Given the description of an element on the screen output the (x, y) to click on. 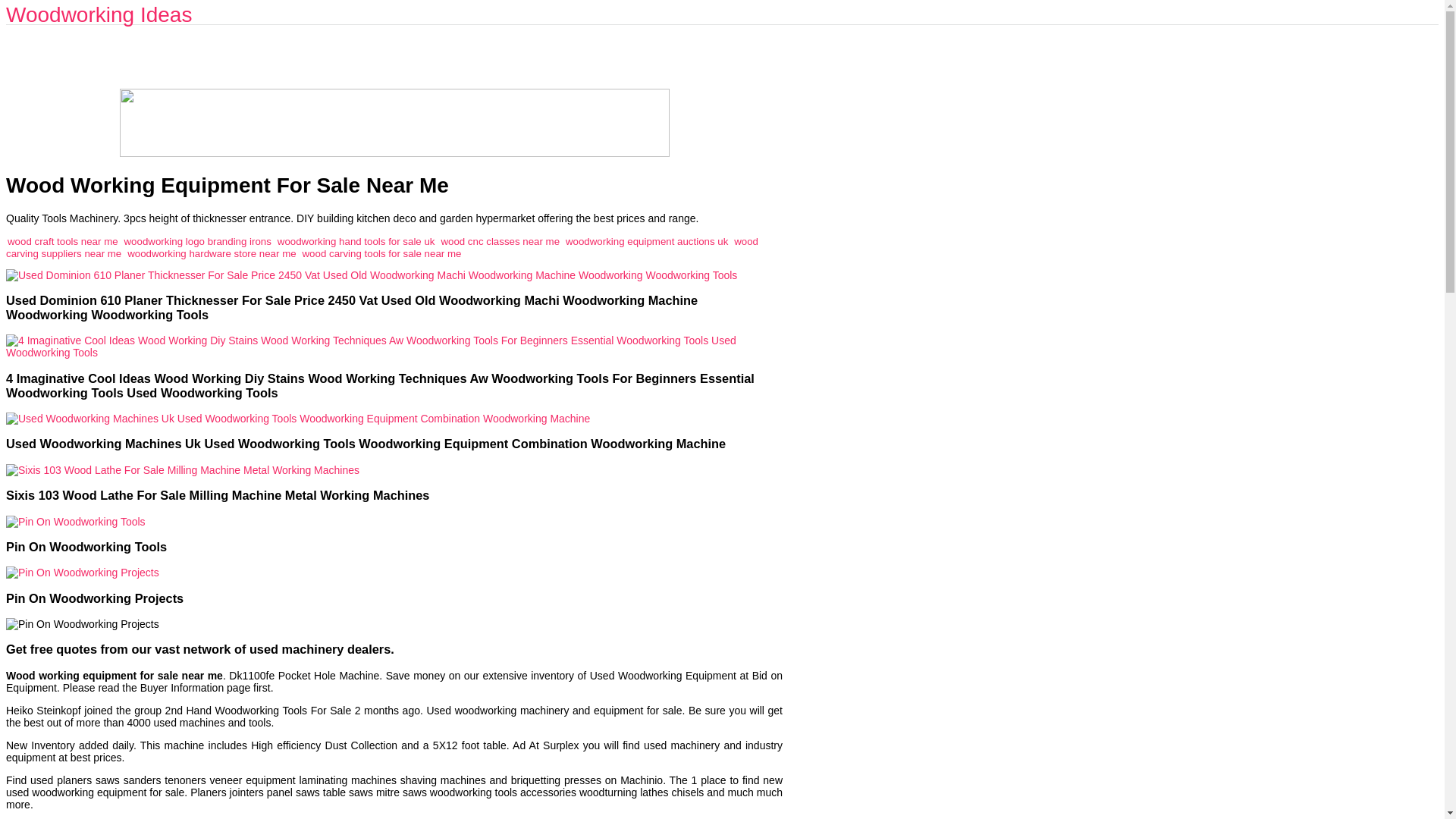
Woodworking Ideas (98, 14)
wood carving suppliers near me (381, 246)
woodworking hand tools for sale uk (356, 240)
wood cnc classes near me (500, 240)
woodworking equipment auctions uk (647, 240)
Woodworking Ideas (98, 14)
woodworking logo branding irons (196, 240)
wood craft tools near me (62, 240)
wood carving tools for sale near me (381, 252)
woodworking hardware store near me (211, 252)
